Given the description of an element on the screen output the (x, y) to click on. 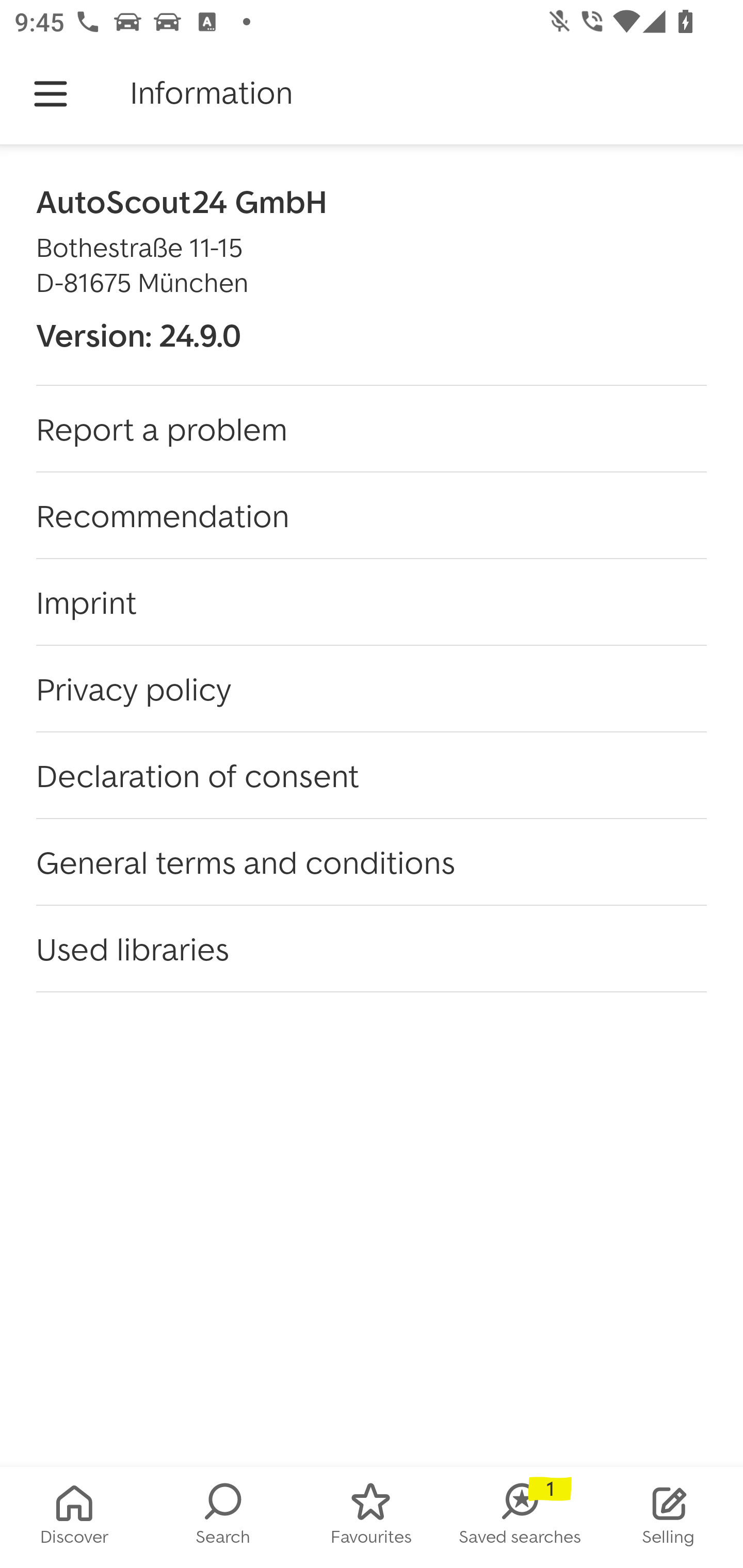
Navigate up (50, 93)
Report a problem 1 (371, 428)
Recommendation 2 (371, 515)
Imprint 3 (371, 602)
Privacy policy 4 (371, 689)
Declaration of consent 5 (371, 775)
General terms and conditions 6 (371, 862)
Used libraries 7 (371, 949)
HOMESCREEN Discover (74, 1517)
SEARCH Search (222, 1517)
FAVORITES Favourites (371, 1517)
SAVED_SEARCHES Saved searches 1 (519, 1517)
STOCK_LIST Selling (668, 1517)
